Given the description of an element on the screen output the (x, y) to click on. 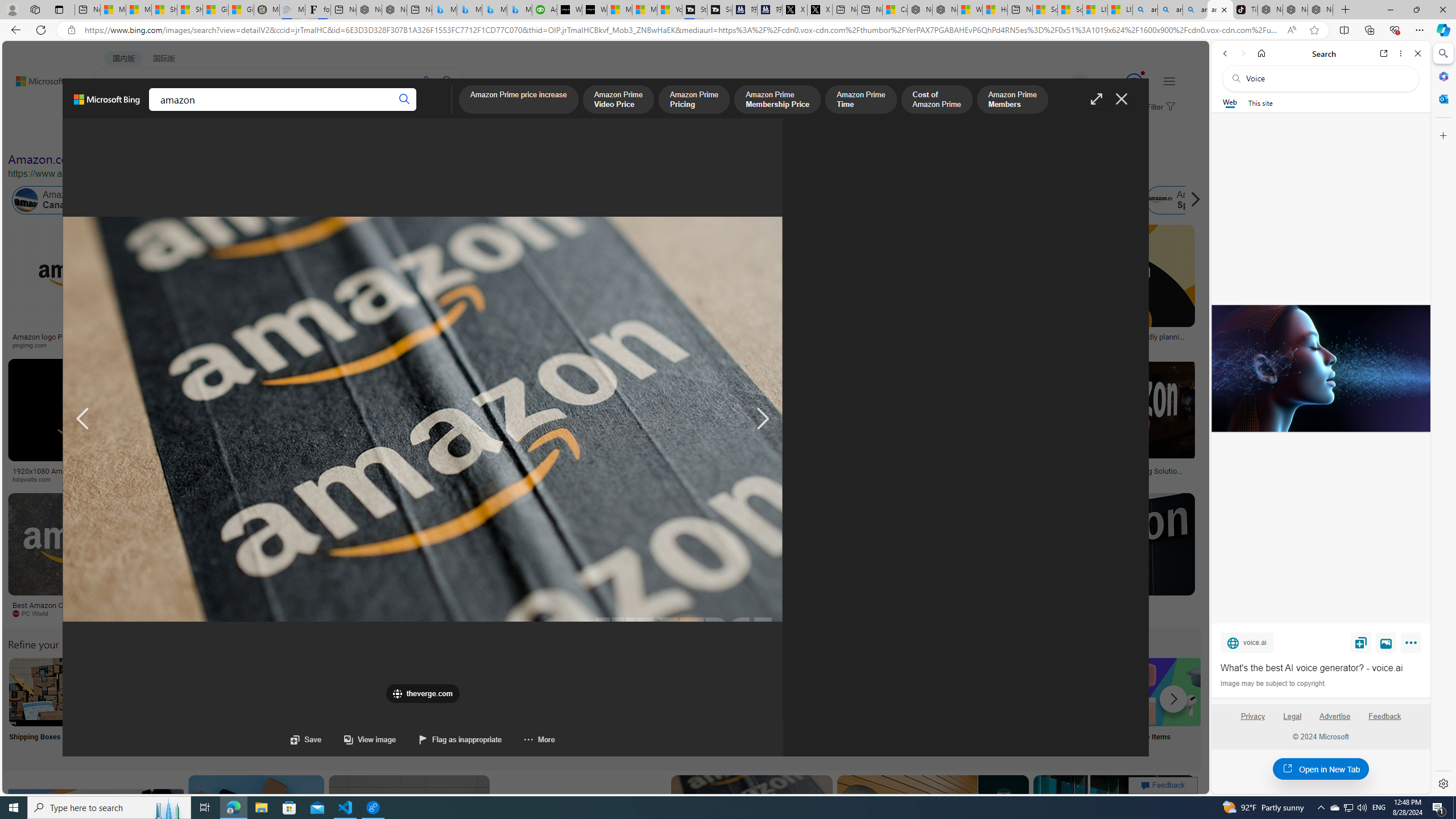
MAPS (397, 111)
Layout (253, 135)
Amazon Cloud (320, 200)
Open in New Tab (1321, 768)
Scroll right (1192, 199)
Privacy (1252, 715)
Amazon Sign in My Account (718, 691)
Nordace - #1 Japanese Best-Seller - Siena Smart Backpack (394, 9)
logopng.com.br (764, 344)
Nordace - Siena Pro 15 Essential Set (1320, 9)
favicon theverge.com (422, 692)
Eugene (1063, 81)
